Given the description of an element on the screen output the (x, y) to click on. 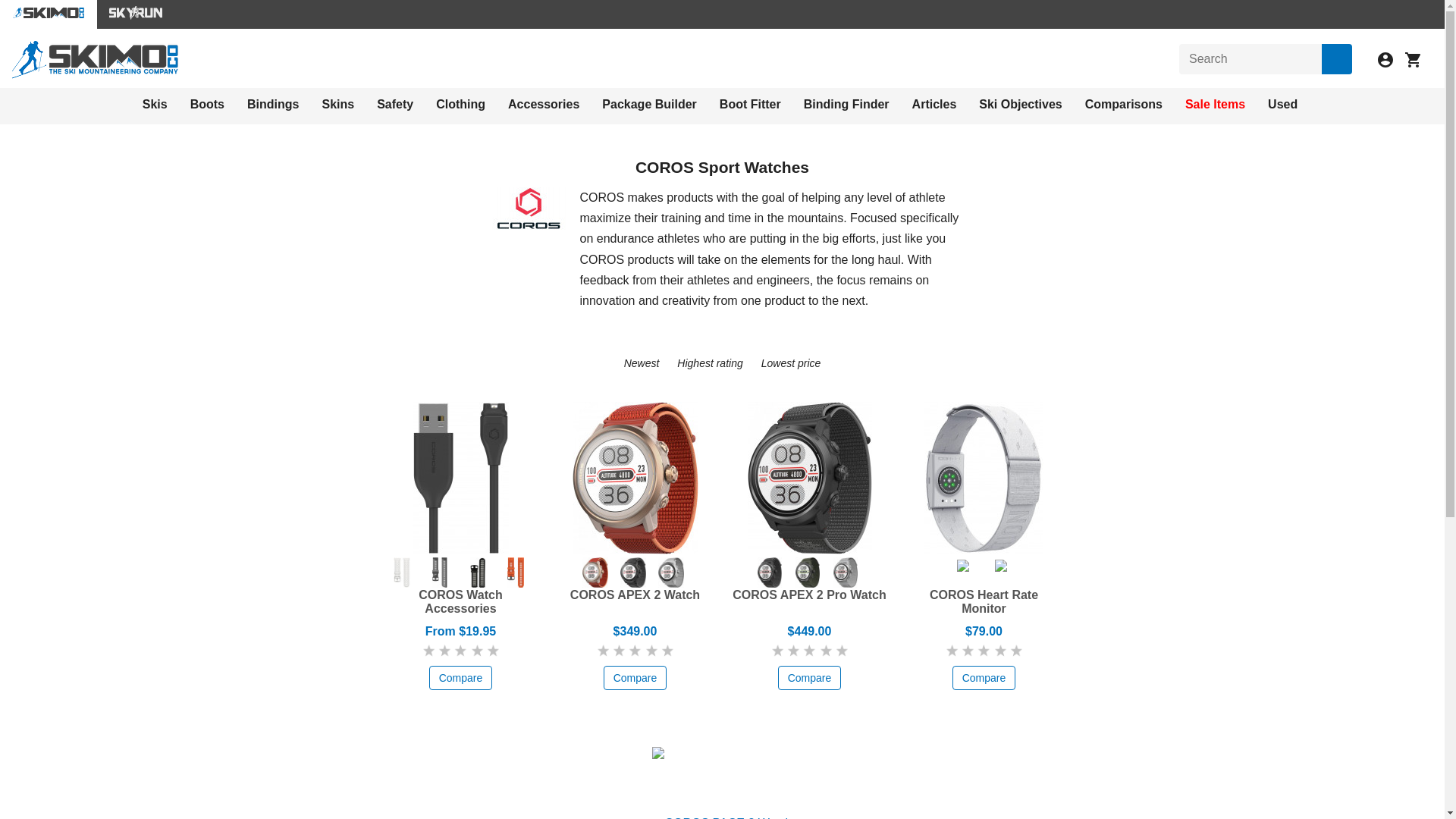
Bindings (272, 104)
Skins (337, 104)
COROS PACE 3 Watch (722, 782)
Skis (154, 104)
Safety (395, 104)
Boots (207, 104)
Skimo Co (94, 59)
Clothing (459, 104)
Accessories (543, 104)
Search (1337, 59)
